Given the description of an element on the screen output the (x, y) to click on. 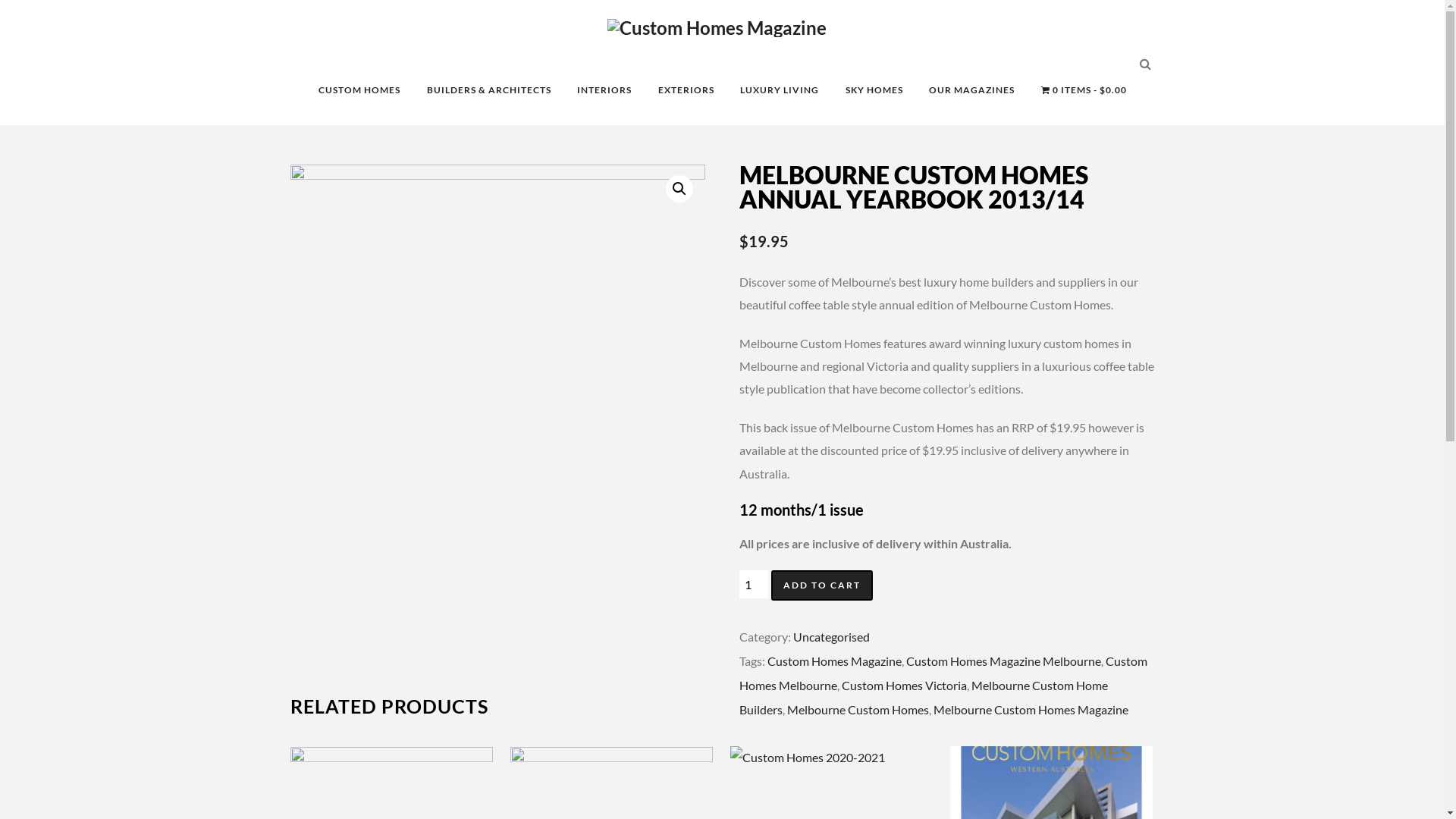
Melbourne Custom Homes Magazine Element type: text (1030, 709)
LUXURY LIVING Element type: text (780, 90)
melbournecustomhomes201314cover Element type: hover (496, 416)
Custom Homes Victoria Element type: text (903, 684)
OUR MAGAZINES Element type: text (972, 90)
EXTERIORS Element type: text (686, 90)
Uncategorised Element type: text (831, 636)
BUILDERS & ARCHITECTS Element type: text (489, 90)
Melbourne Custom Home Builders Element type: text (923, 696)
Custom Homes Magazine Melbourne Element type: text (1003, 660)
Custom Homes Magazine Element type: text (834, 660)
SKY HOMES Element type: text (874, 90)
CUSTOM HOMES Element type: text (359, 90)
Custom Homes Melbourne Element type: text (943, 672)
0 ITEMS$0.00 Element type: text (1083, 90)
ADD TO CART Element type: text (821, 585)
INTERIORS Element type: text (604, 90)
Melbourne Custom Homes Element type: text (857, 709)
